Given the description of an element on the screen output the (x, y) to click on. 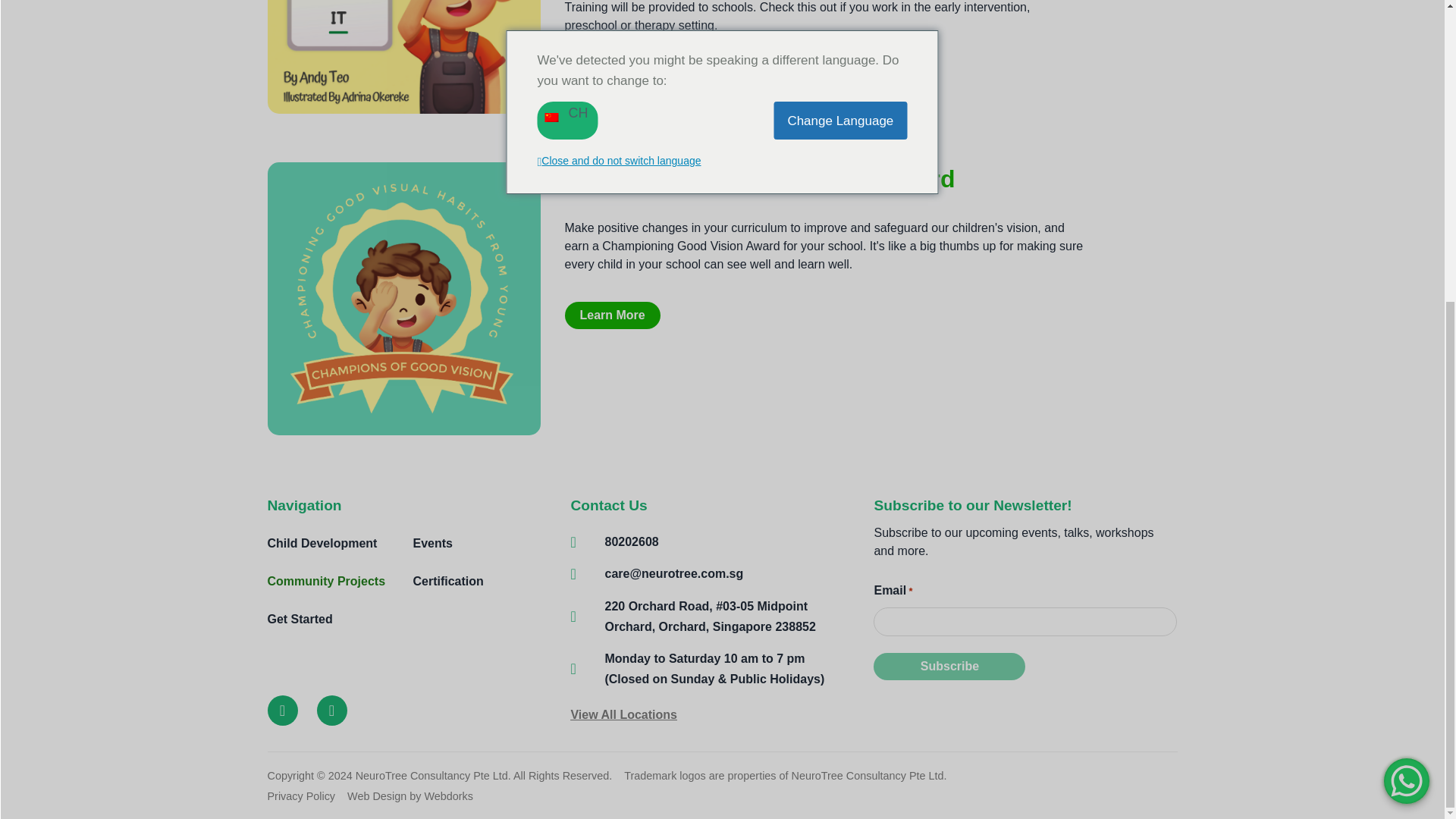
Subscribe (949, 666)
